Given the description of an element on the screen output the (x, y) to click on. 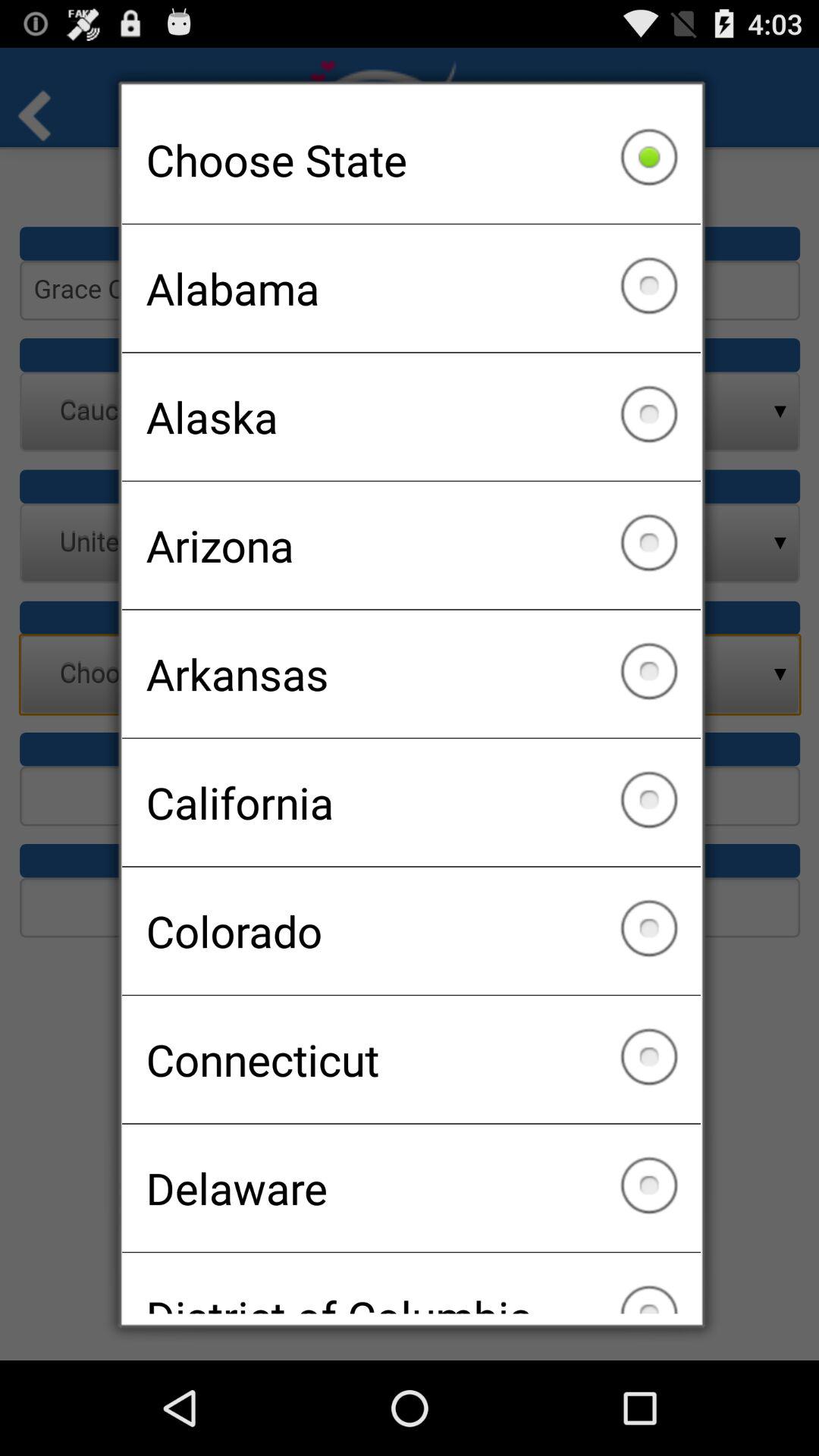
jump until connecticut checkbox (411, 1059)
